Given the description of an element on the screen output the (x, y) to click on. 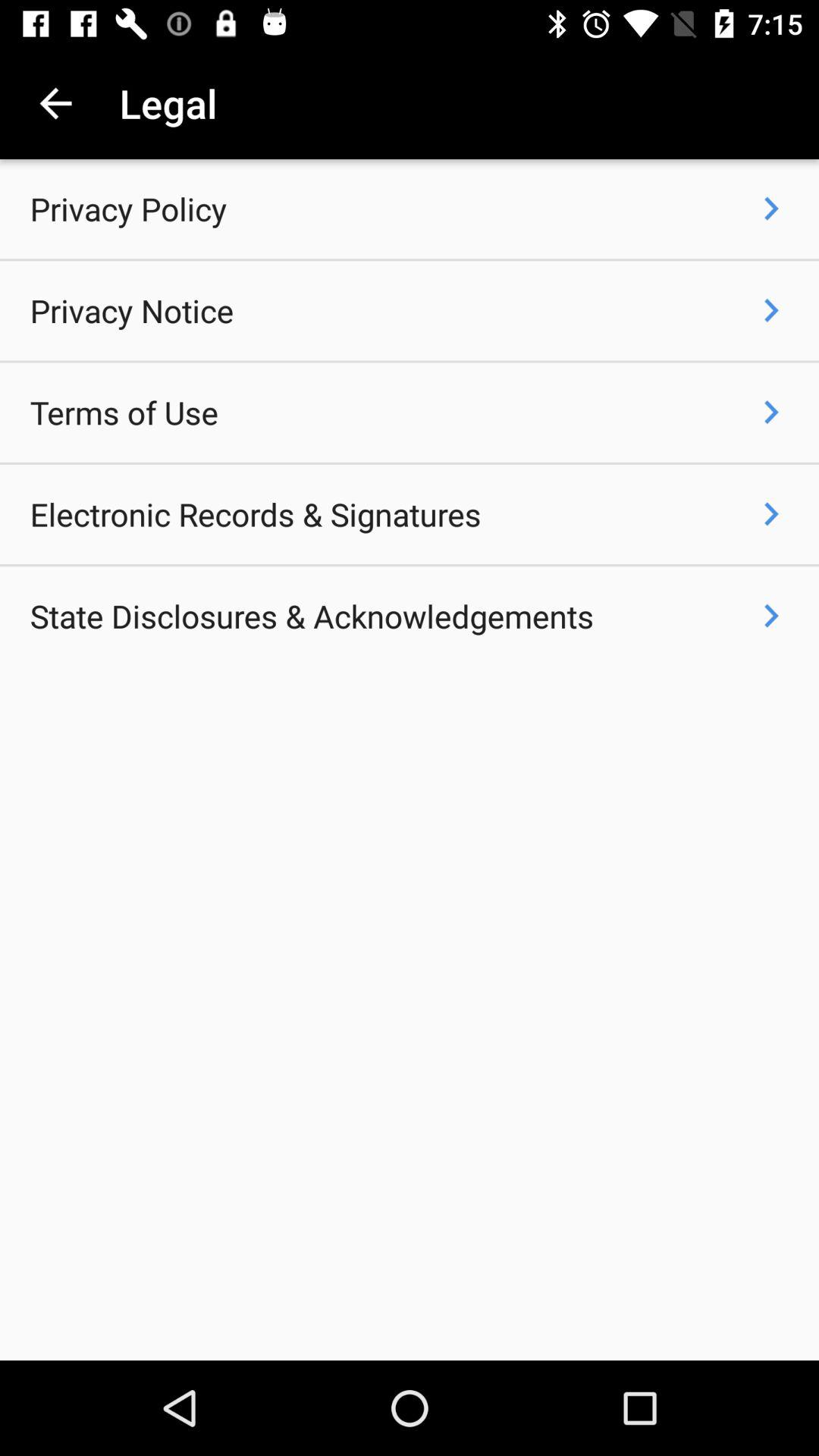
open the privacy notice (131, 310)
